Given the description of an element on the screen output the (x, y) to click on. 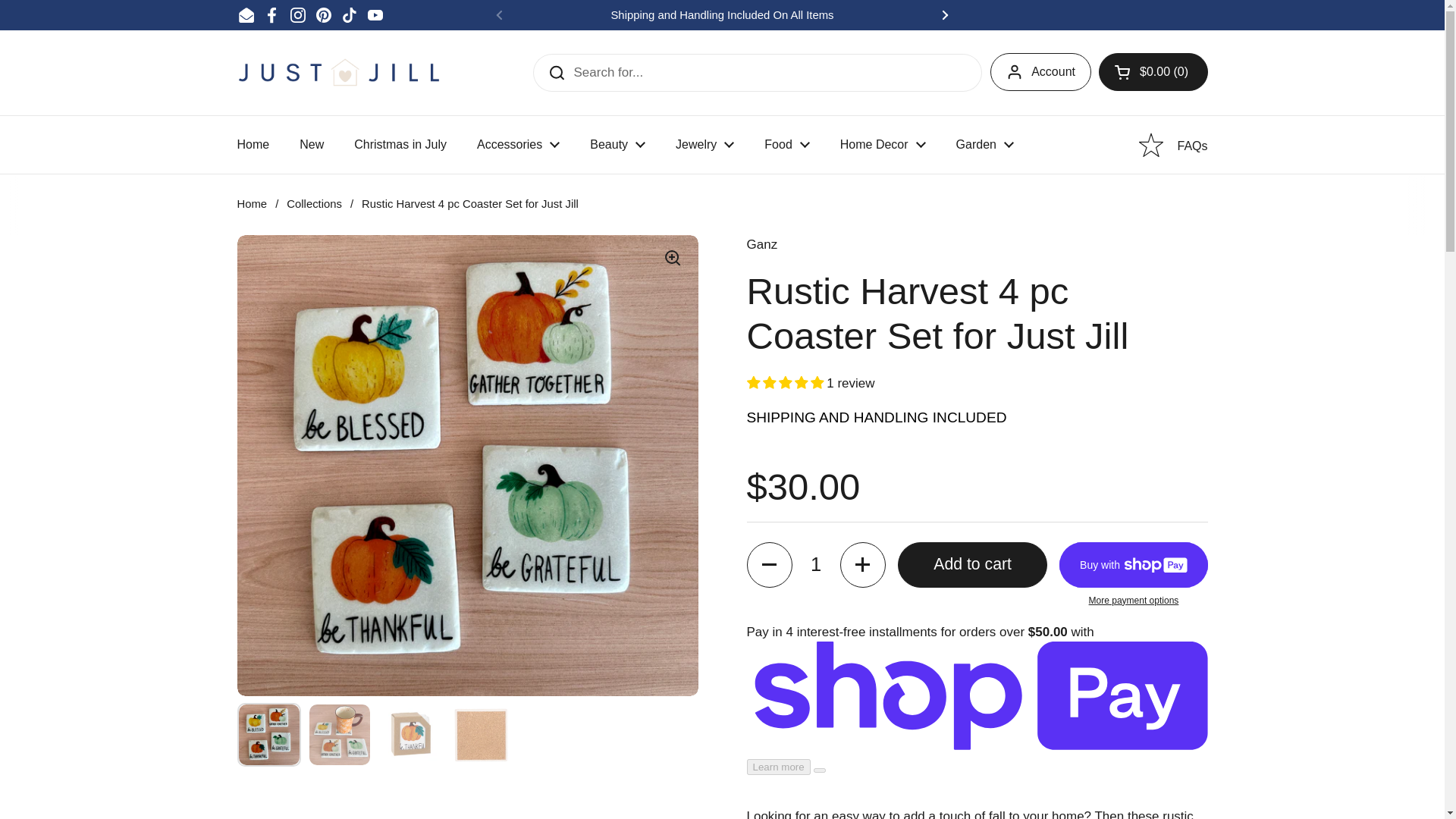
Facebook (271, 14)
Account (1040, 71)
Open cart (1153, 71)
Beauty (618, 144)
Accessories (518, 144)
YouTube (374, 14)
New (311, 144)
Pinterest (322, 14)
Christmas in July (400, 144)
Home (252, 144)
New (311, 144)
Check out our Weekly Live items! (1168, 15)
Accessories (518, 144)
Just Jill Shop (338, 71)
